Given the description of an element on the screen output the (x, y) to click on. 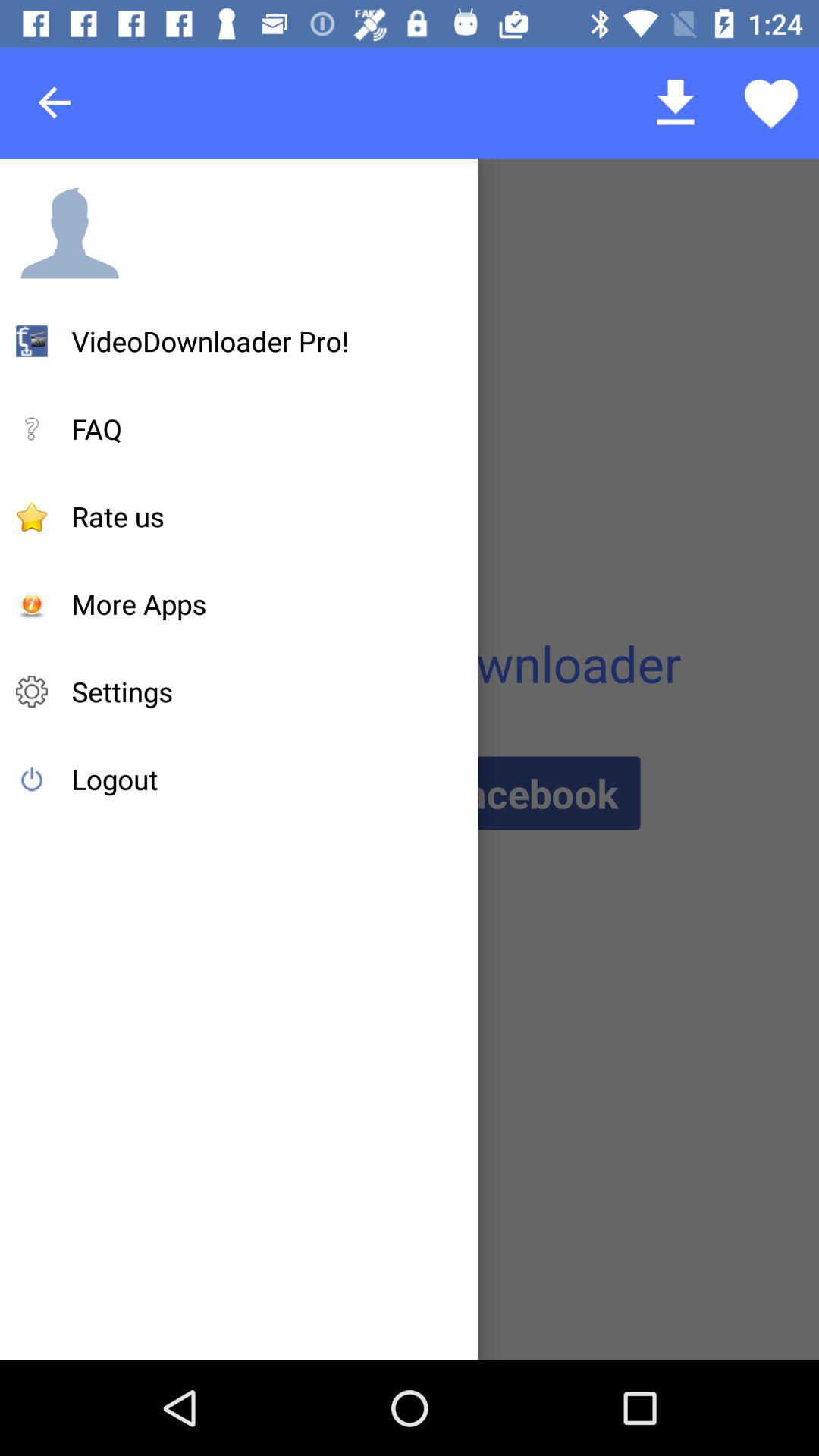
open the icon above the more apps (117, 516)
